Given the description of an element on the screen output the (x, y) to click on. 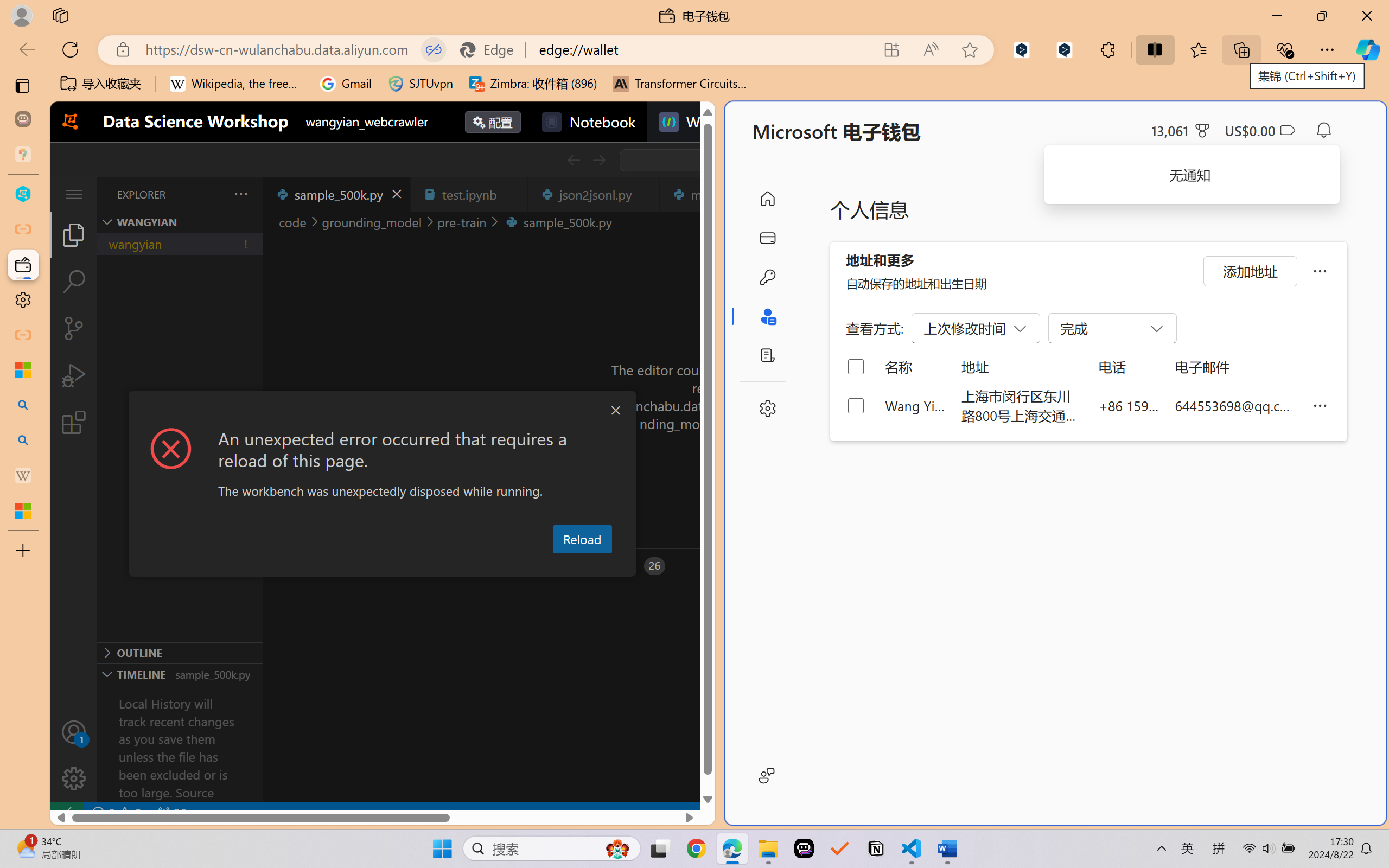
Output (Ctrl+Shift+U) (377, 565)
Extensions (Ctrl+Shift+X) (73, 422)
Terminal actions (1002, 565)
Application Menu (73, 194)
